Given the description of an element on the screen output the (x, y) to click on. 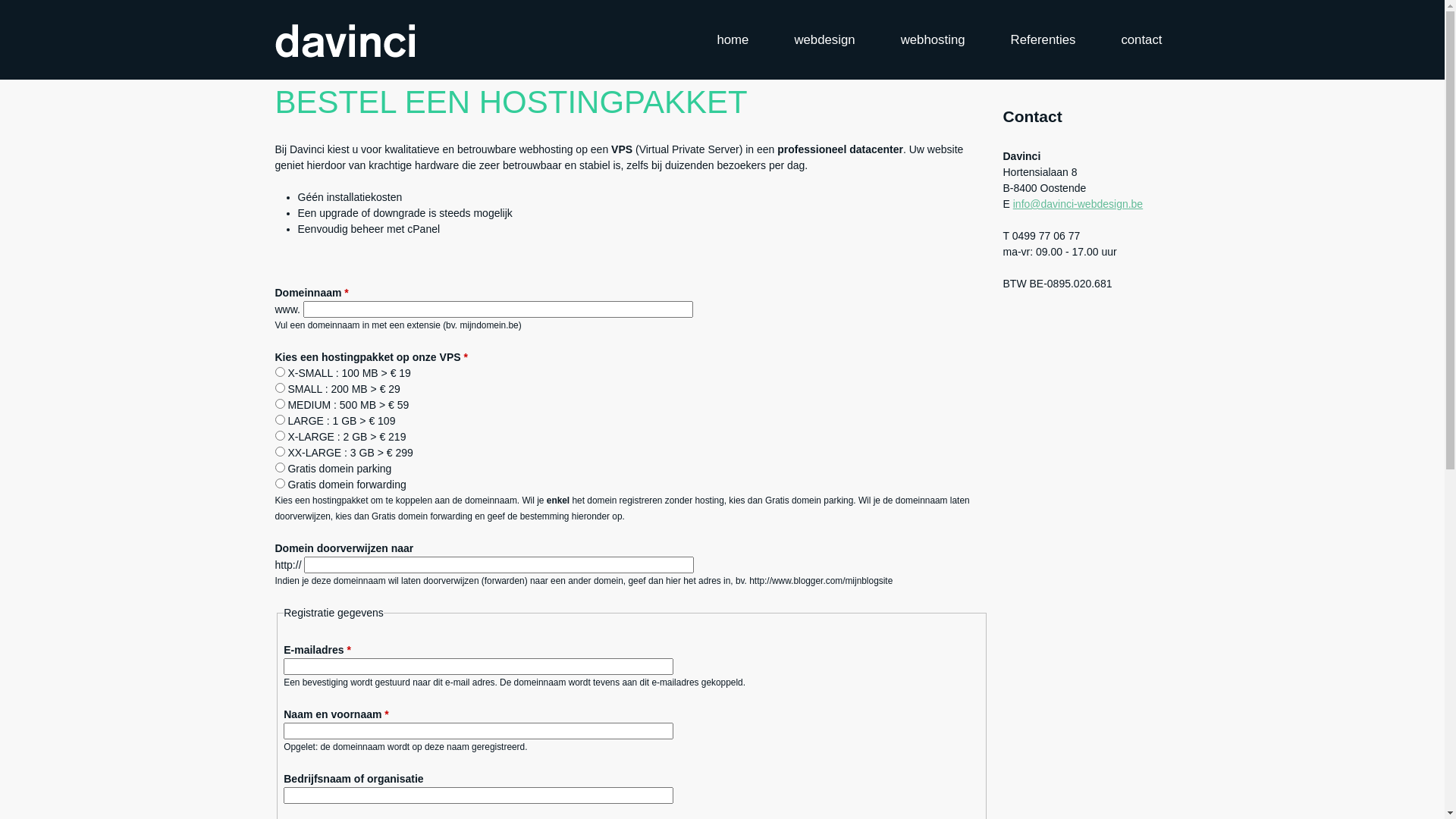
webhosting Element type: text (932, 39)
info@davinci-webdesign.be Element type: text (1077, 203)
Home Element type: hover (344, 39)
Referenties Element type: text (1043, 39)
contact Element type: text (1140, 39)
home Element type: text (732, 39)
webdesign Element type: text (823, 39)
